Given the description of an element on the screen output the (x, y) to click on. 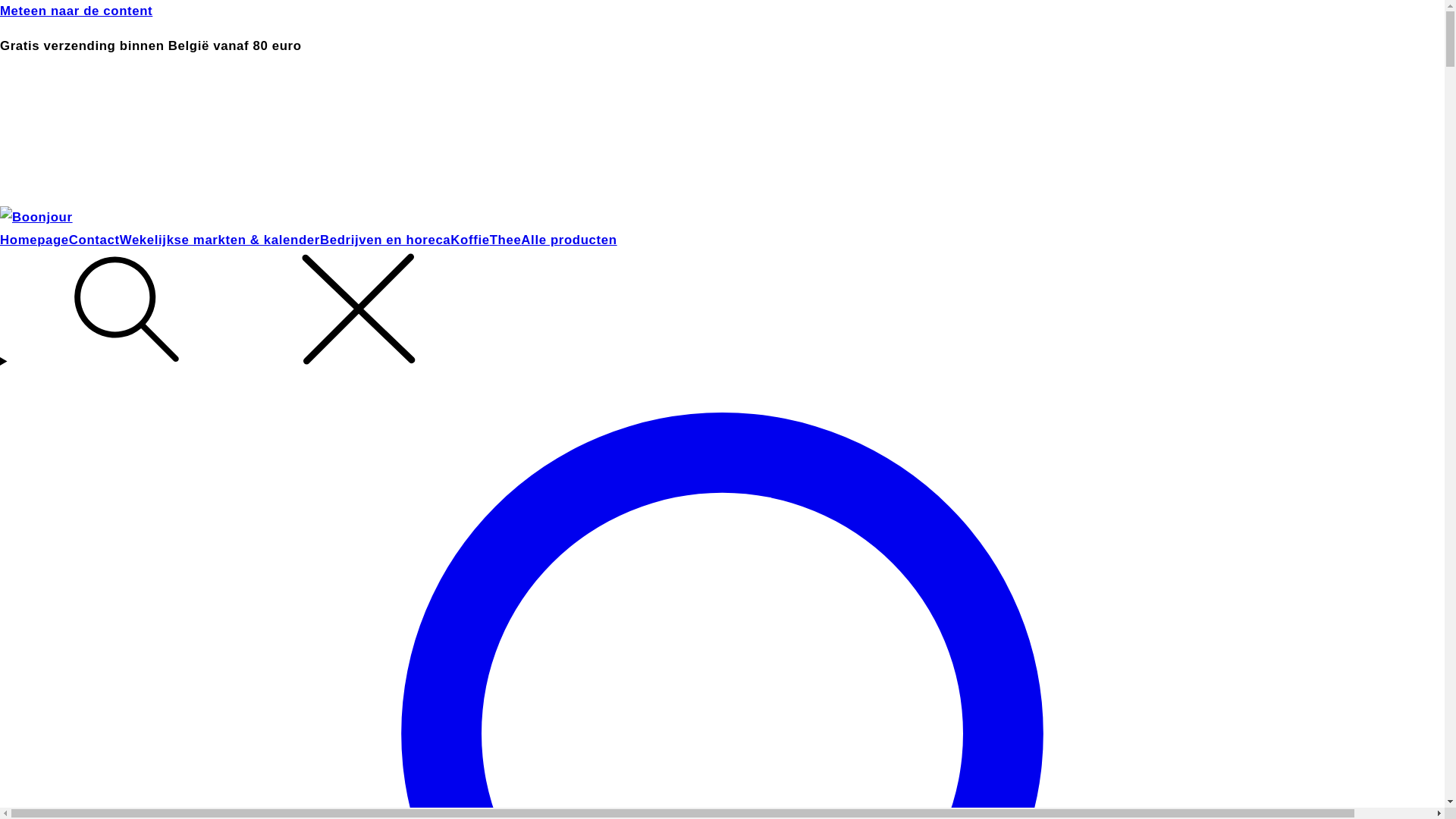
Thee Element type: text (505, 240)
Wekelijkse markten & kalender Element type: text (219, 240)
Meteen naar de content Element type: text (722, 11)
Koffie Element type: text (469, 240)
Alle producten Element type: text (568, 240)
Bedrijven en horeca Element type: text (385, 240)
Homepage Element type: text (34, 240)
Contact Element type: text (94, 240)
